Given the description of an element on the screen output the (x, y) to click on. 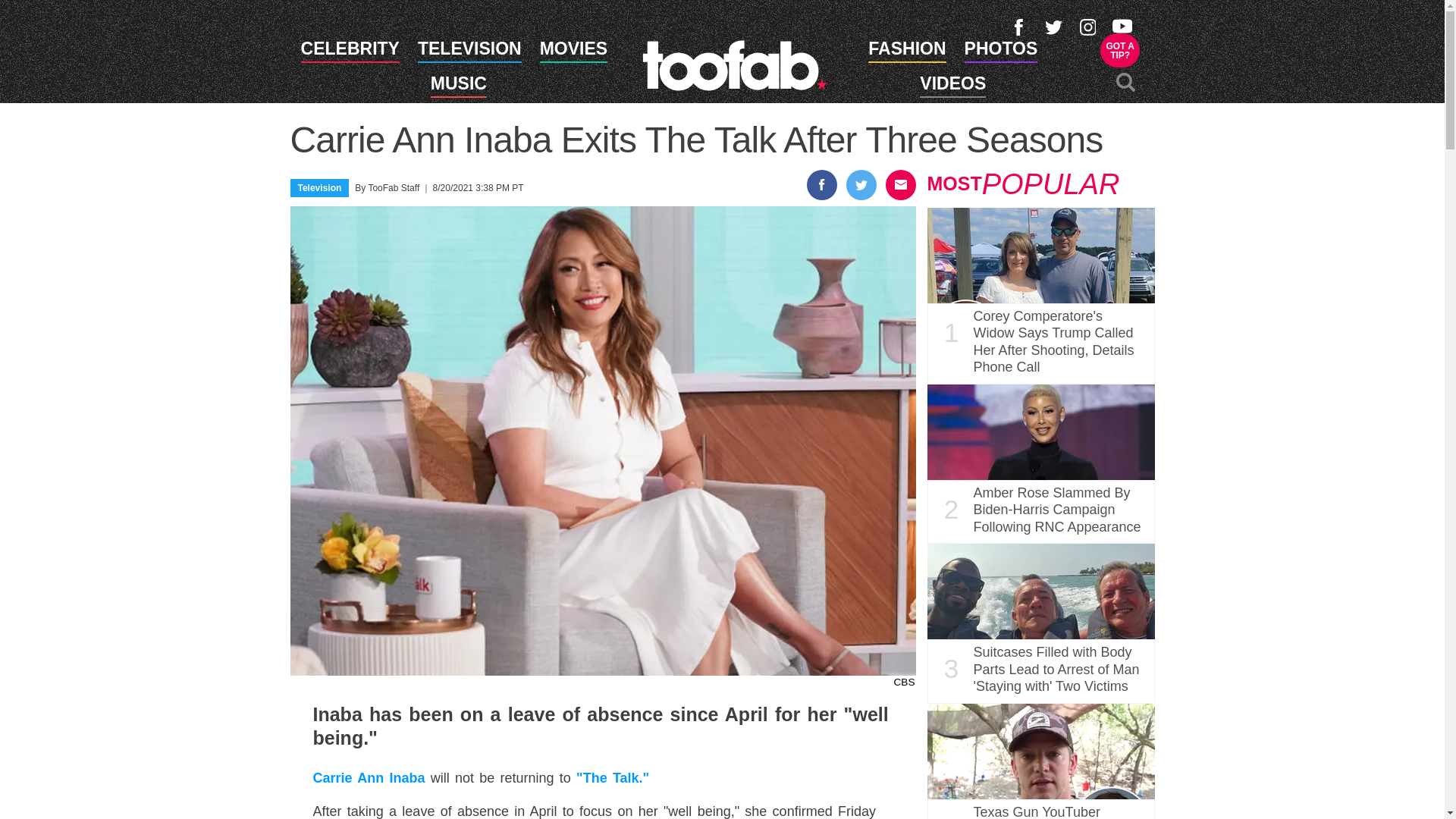
"The Talk." (612, 777)
MUSIC (458, 86)
Carrie Ann Inaba (369, 777)
CELEBRITY (1120, 50)
toofab (349, 51)
MOVIES (734, 64)
TELEVISION (573, 51)
PHOTOS (469, 51)
FASHION (1000, 51)
VIDEOS (905, 51)
